Given the description of an element on the screen output the (x, y) to click on. 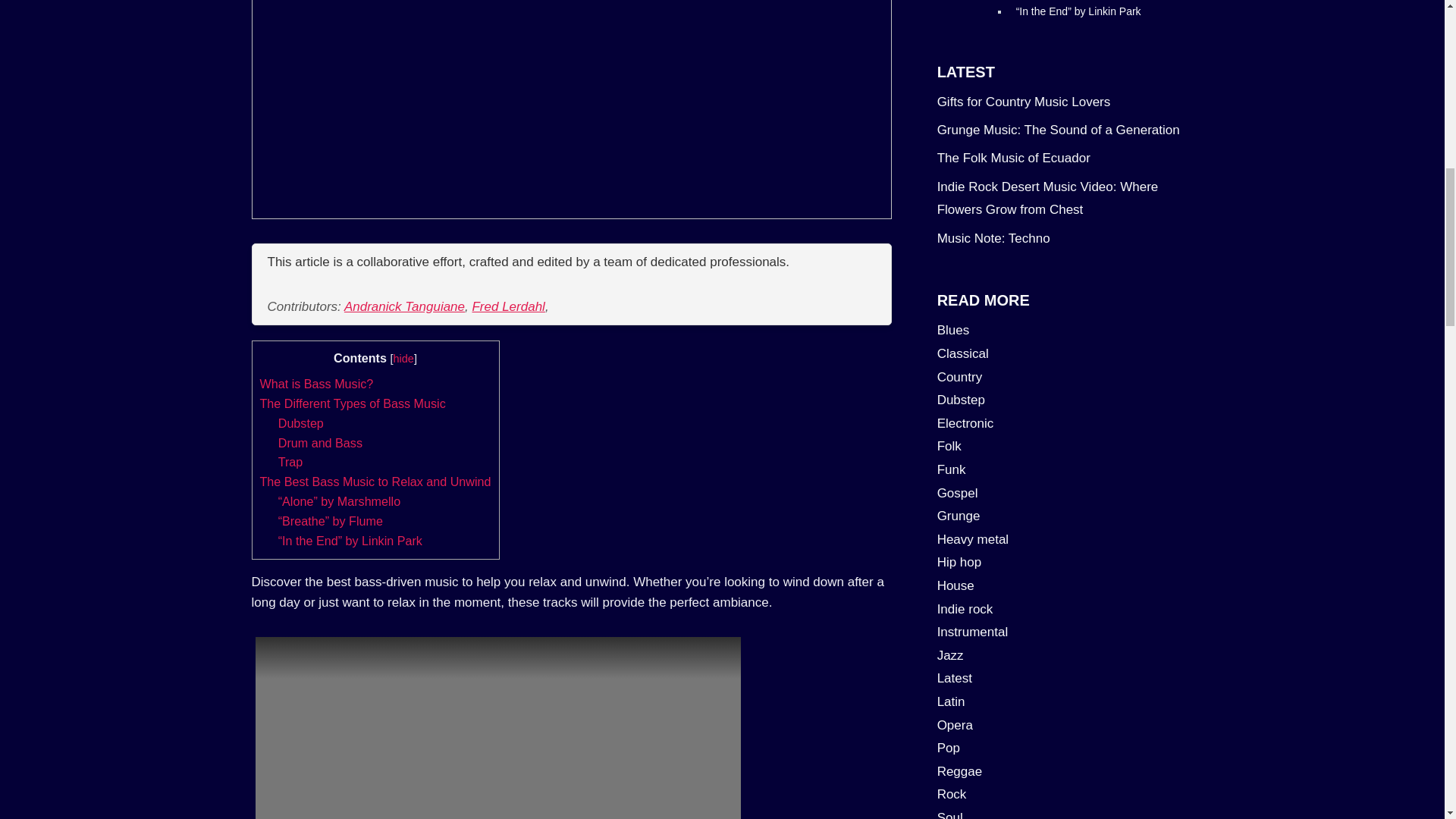
Dubstep (300, 422)
Andranick Tanguiane (403, 306)
Drum and Bass (320, 442)
What is Bass Music? (315, 383)
The Different Types of Bass Music (352, 403)
Trap (290, 461)
hide (403, 358)
Fred Lerdahl (507, 306)
The Best Bass Music to Relax and Unwind (374, 481)
